Given the description of an element on the screen output the (x, y) to click on. 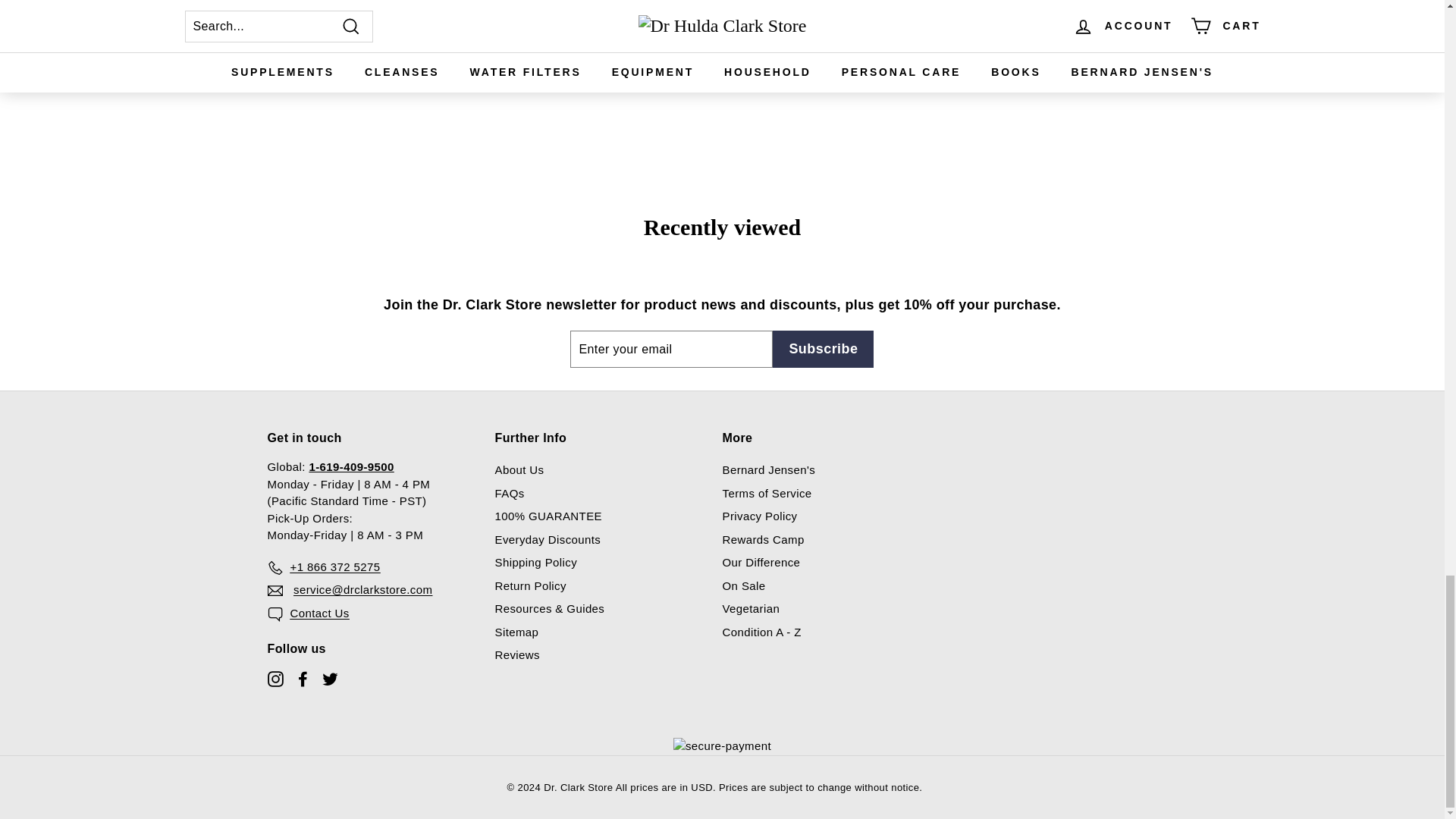
Dr. Clark Store on Facebook (302, 678)
Dr. Clark Store on Twitter (329, 678)
Dr. Clark Store on Instagram (274, 678)
